Given the description of an element on the screen output the (x, y) to click on. 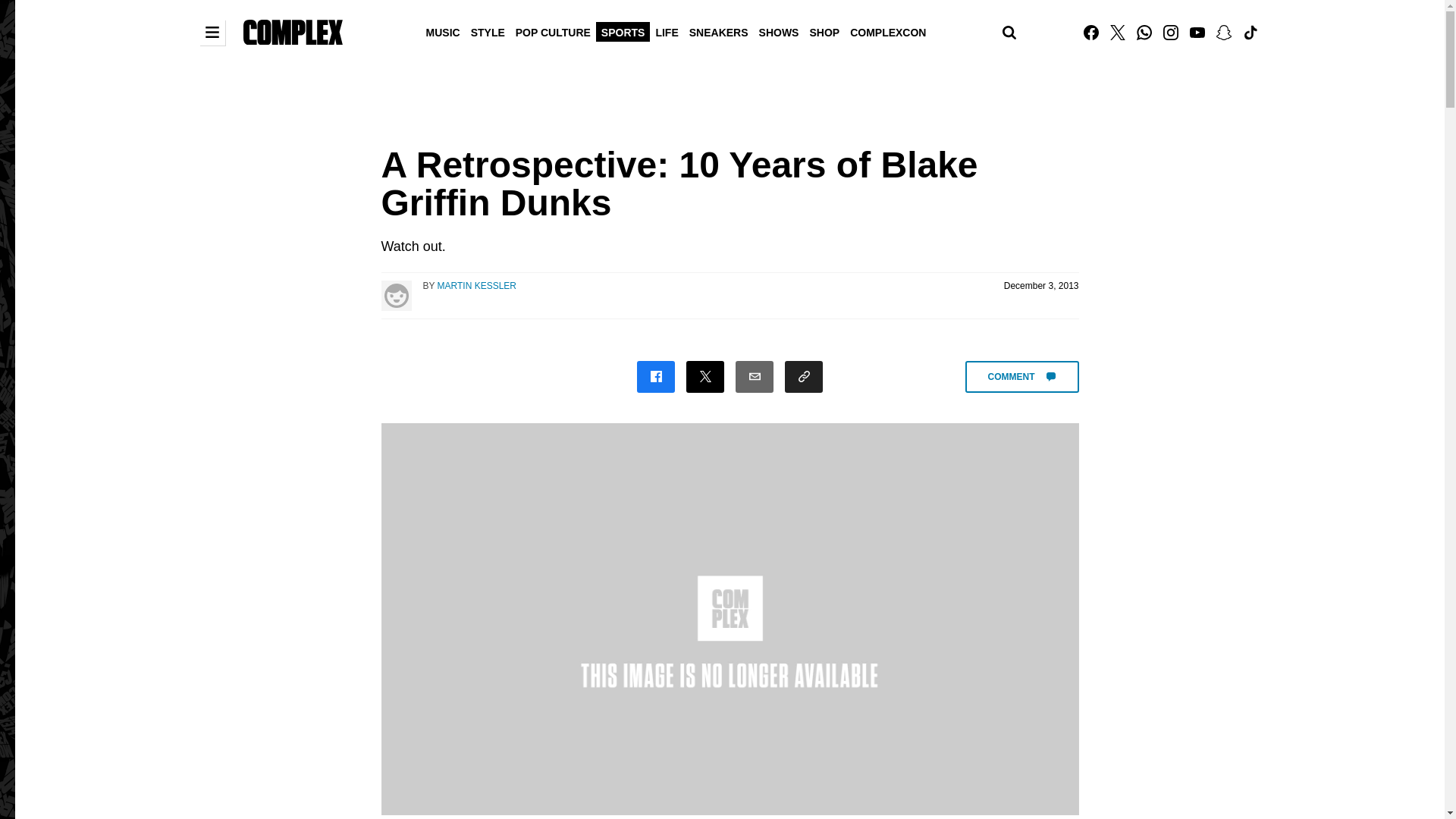
SNEAKERS (719, 30)
MUSIC (442, 30)
COMPLEXCON (887, 30)
POP CULTURE (553, 30)
LIFE (665, 30)
STYLE (488, 30)
SHOP (823, 30)
SHOWS (779, 30)
SPORTS (622, 30)
